Given the description of an element on the screen output the (x, y) to click on. 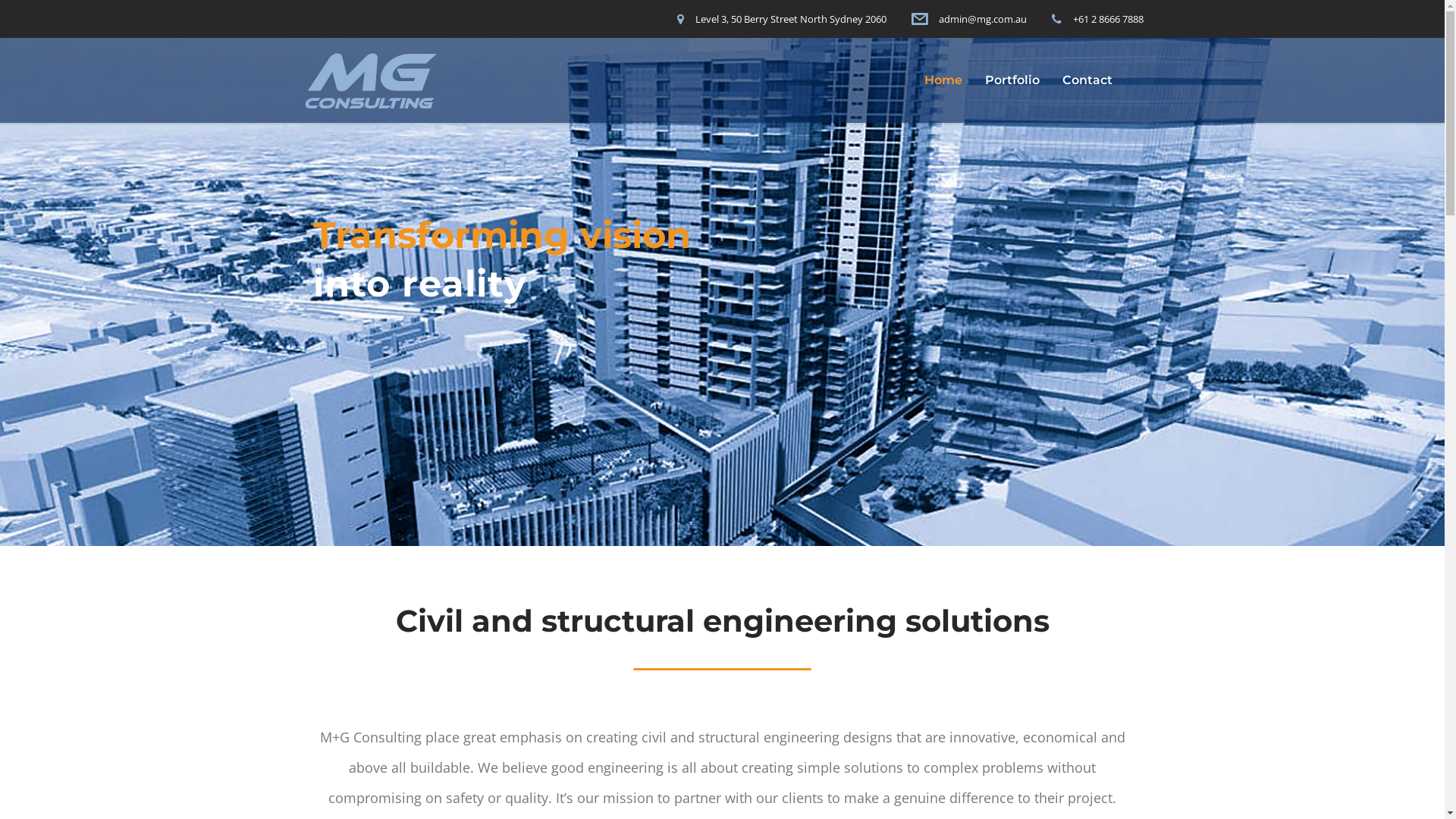
Home Element type: text (943, 80)
admin@mg.com.au Element type: text (982, 18)
Contact Element type: text (1087, 80)
Portfolio Element type: text (1012, 80)
